Given the description of an element on the screen output the (x, y) to click on. 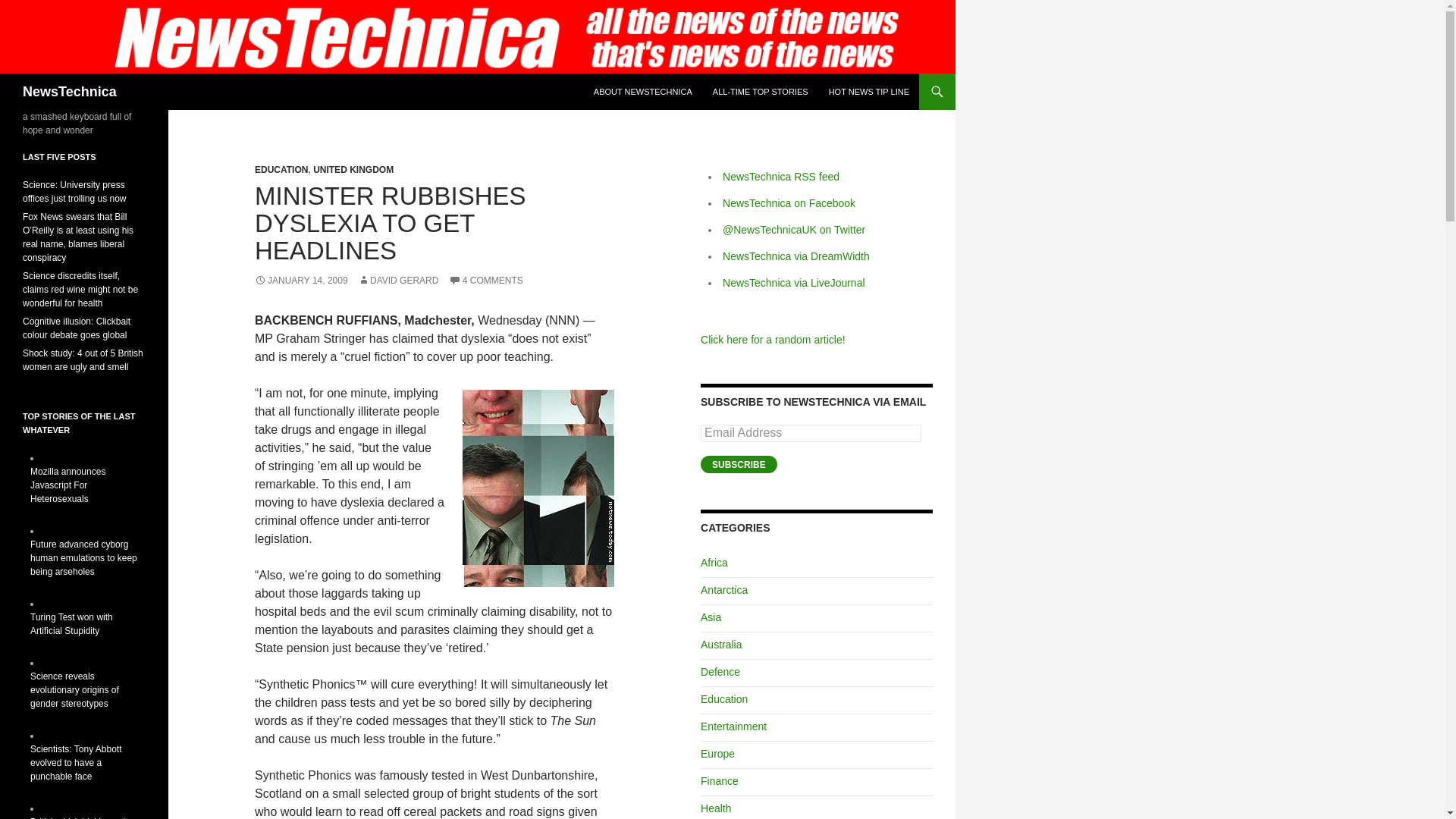
ABOUT NEWSTECHNICA (643, 91)
NewsTechnica on Facebook (789, 203)
NewsTechnica RSS feed (781, 176)
HOT NEWS TIP LINE (868, 91)
ALL-TIME TOP STORIES (759, 91)
UNITED KINGDOM (353, 169)
4 COMMENTS (485, 280)
EDUCATION (280, 169)
NewsTechnica (69, 91)
JANUARY 14, 2009 (300, 280)
DAVID GERARD (398, 280)
NewsTechnica via LiveJournal (793, 282)
NewsTechnica via DreamWidth (795, 256)
